Given the description of an element on the screen output the (x, y) to click on. 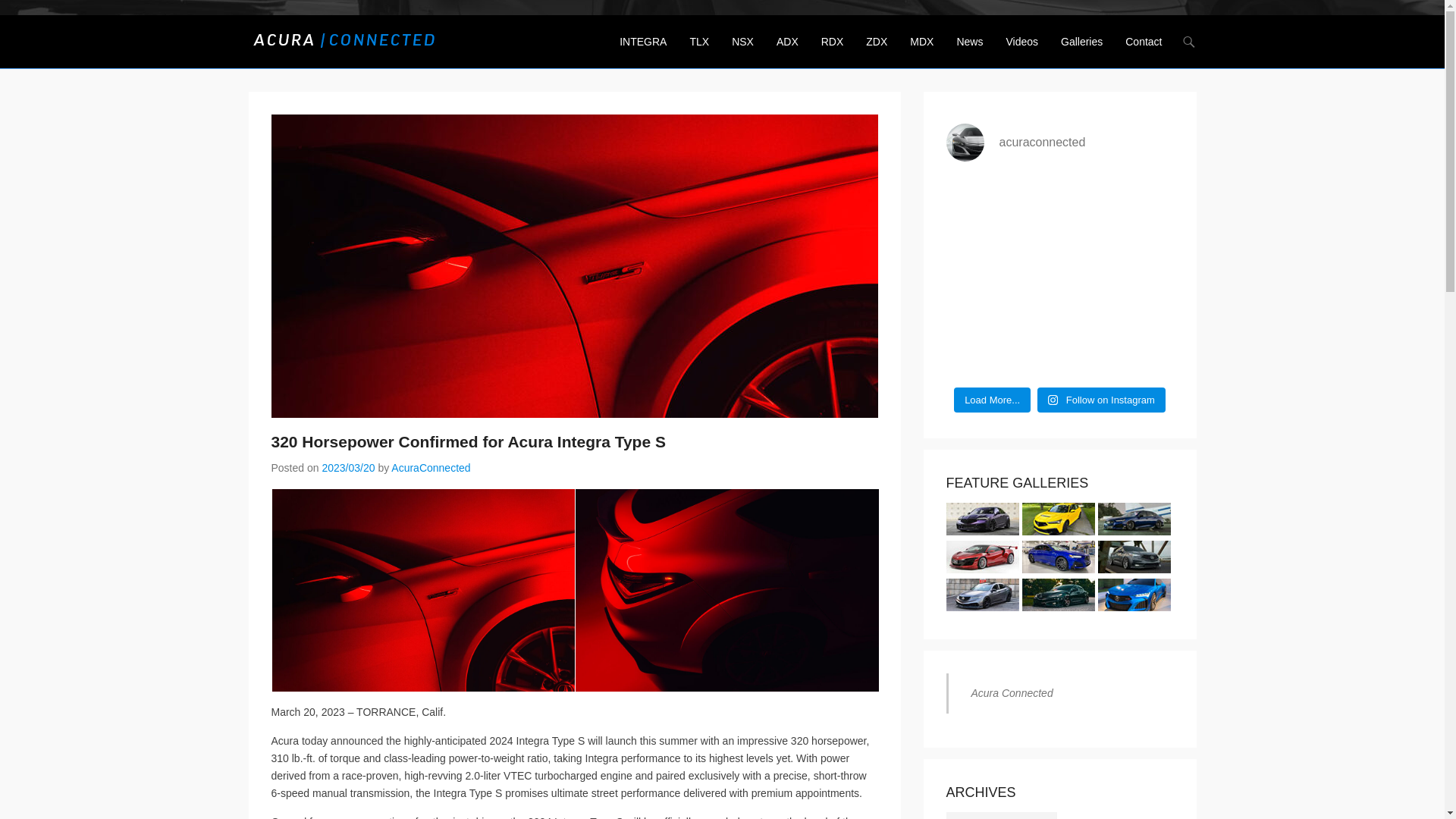
Acura Connected (505, 35)
Skip to content (646, 42)
NSX (742, 50)
AcuraConnected (430, 467)
ZDX (877, 50)
TLX (698, 50)
Videos (1021, 50)
acuraconnected (1059, 142)
Skip to content (646, 42)
MDX (921, 50)
Acura Connected (505, 35)
7:00 am (347, 467)
2024 Acura Integra Type S (422, 590)
Galleries (1080, 50)
